Given the description of an element on the screen output the (x, y) to click on. 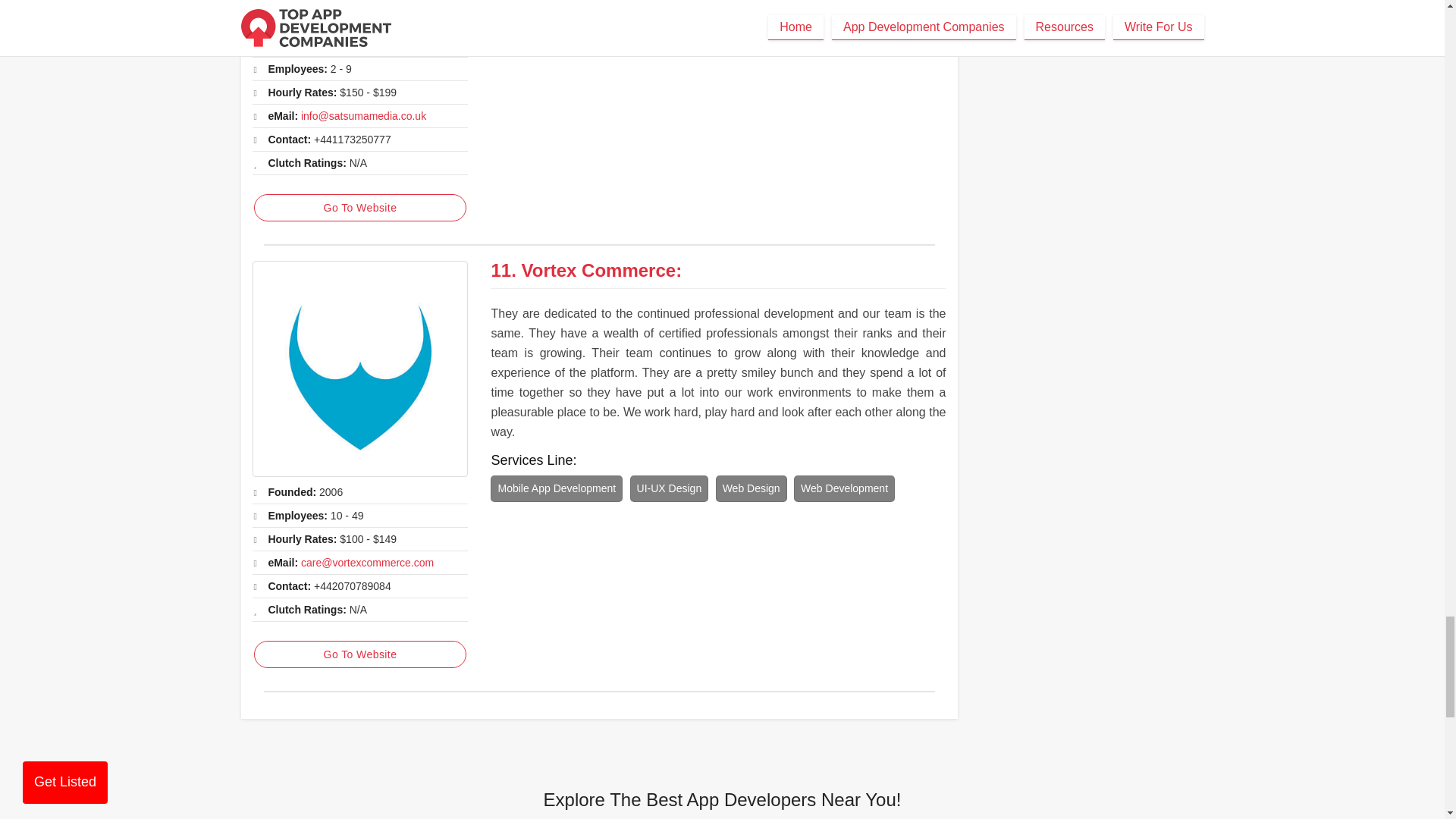
Satsuma Media Ltd (359, 15)
Vortex Commerce (359, 368)
